Given the description of an element on the screen output the (x, y) to click on. 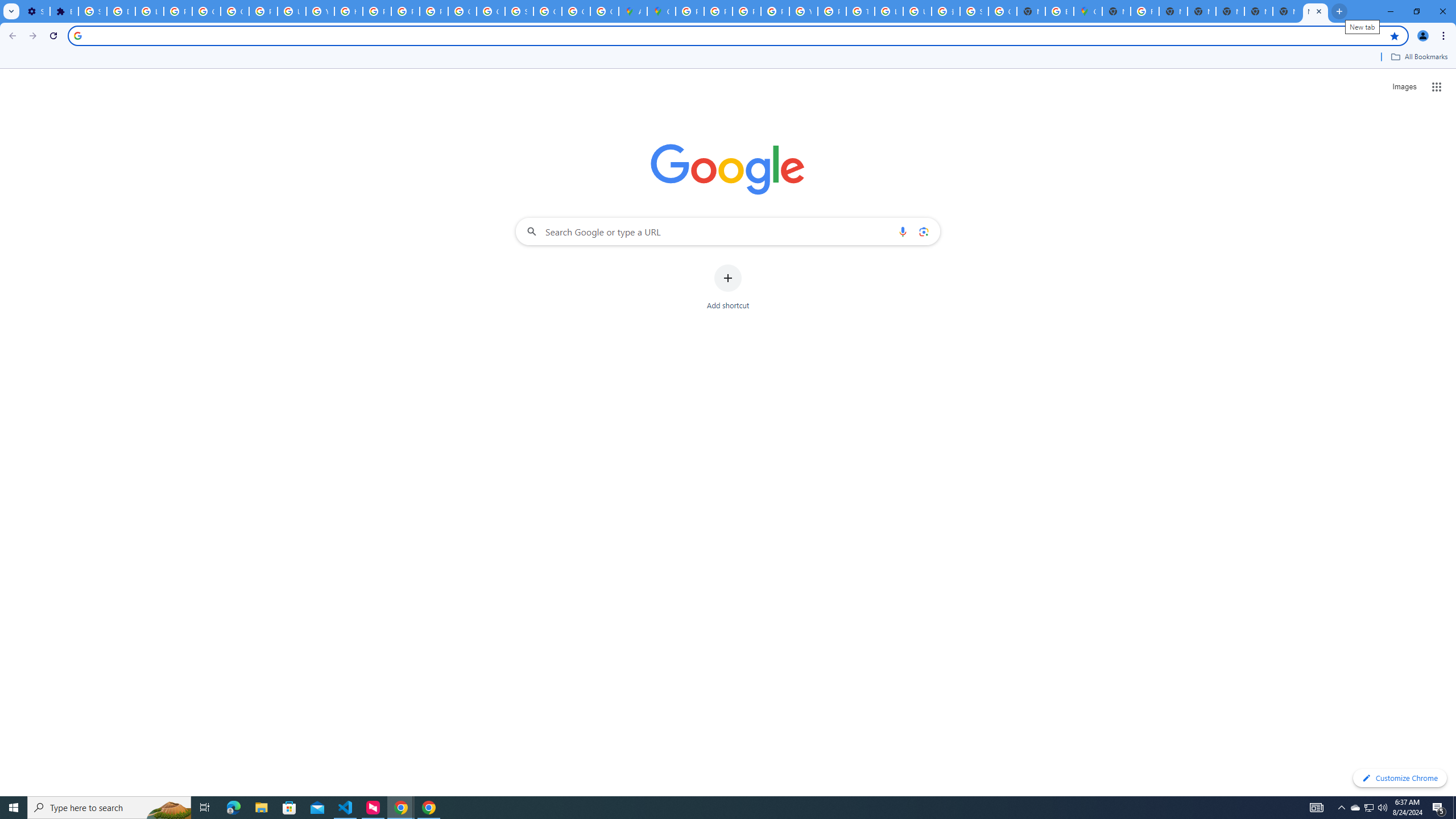
New Tab (1258, 11)
Sign in - Google Accounts (92, 11)
Search for Images  (1403, 87)
YouTube (320, 11)
Google Account Help (206, 11)
Create your Google Account (604, 11)
